Given the description of an element on the screen output the (x, y) to click on. 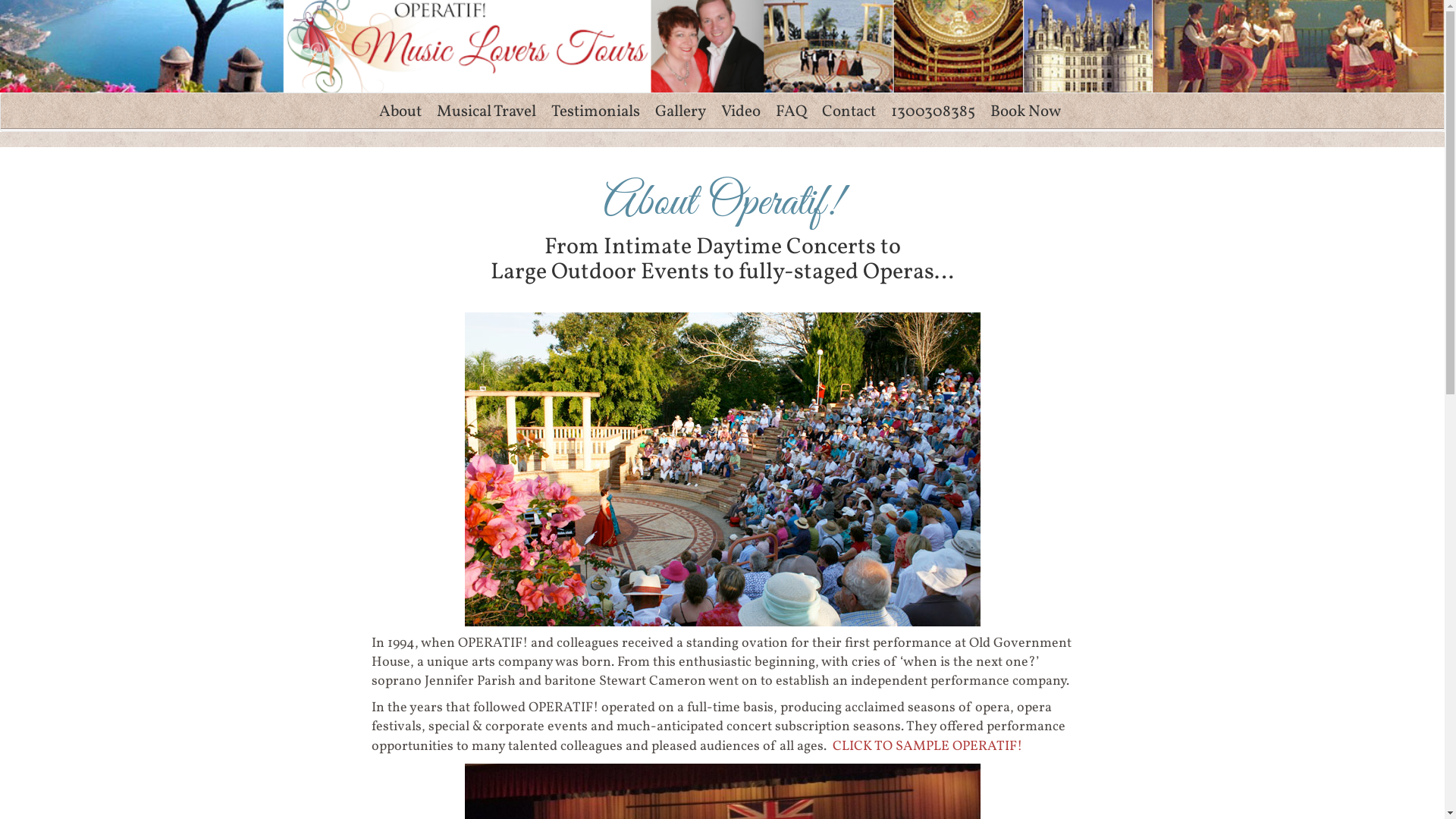
FAQ Element type: text (790, 112)
Video Element type: text (739, 112)
CLICK TO SAMPLE OPERATIF! Element type: text (927, 746)
1300308385 Element type: text (932, 112)
Book Now Element type: text (1025, 112)
Musical Travel Element type: text (486, 112)
About Element type: text (400, 112)
Testimonials Element type: text (594, 112)
Gallery Element type: text (680, 112)
Contact Element type: text (848, 112)
